Given the description of an element on the screen output the (x, y) to click on. 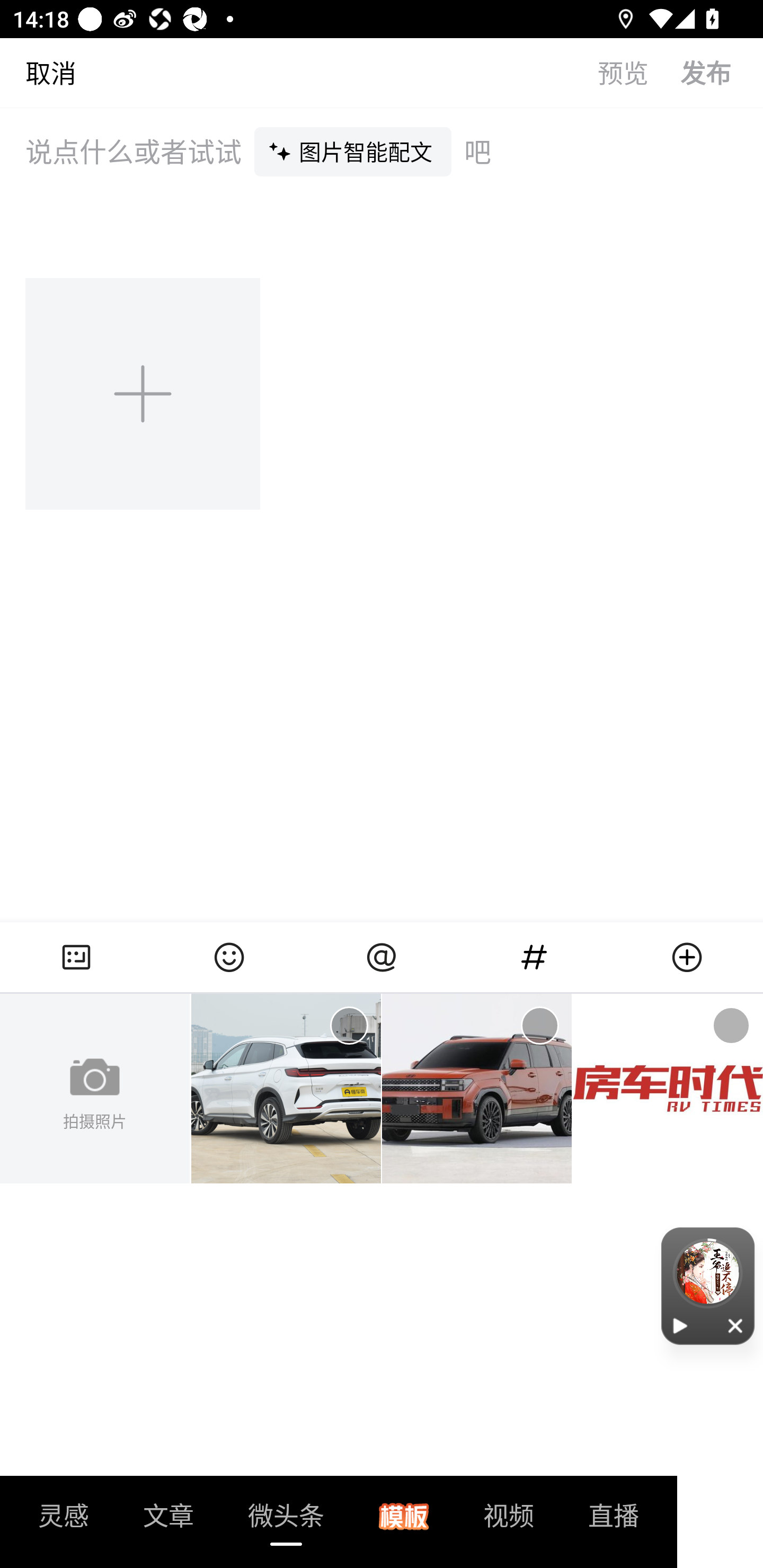
取消 (38, 71)
预览 (638, 71)
发布 (721, 71)
图片智能配文 (352, 151)
添加图片 (144, 393)
相册 (76, 956)
表情 (228, 956)
at (381, 956)
话题 (533, 956)
更多 (686, 956)
拍摄照片 (94, 1088)
图片1 (285, 1088)
未选中 (348, 1025)
图片2 (476, 1088)
未选中 (539, 1025)
图片3 (668, 1088)
未选中 (731, 1025)
播放 关闭 (708, 1286)
播放 (680, 1325)
关闭 (736, 1325)
灵感 (63, 1521)
文章 (168, 1521)
微头条 (285, 1521)
视频 (508, 1521)
直播 (613, 1521)
